Given the description of an element on the screen output the (x, y) to click on. 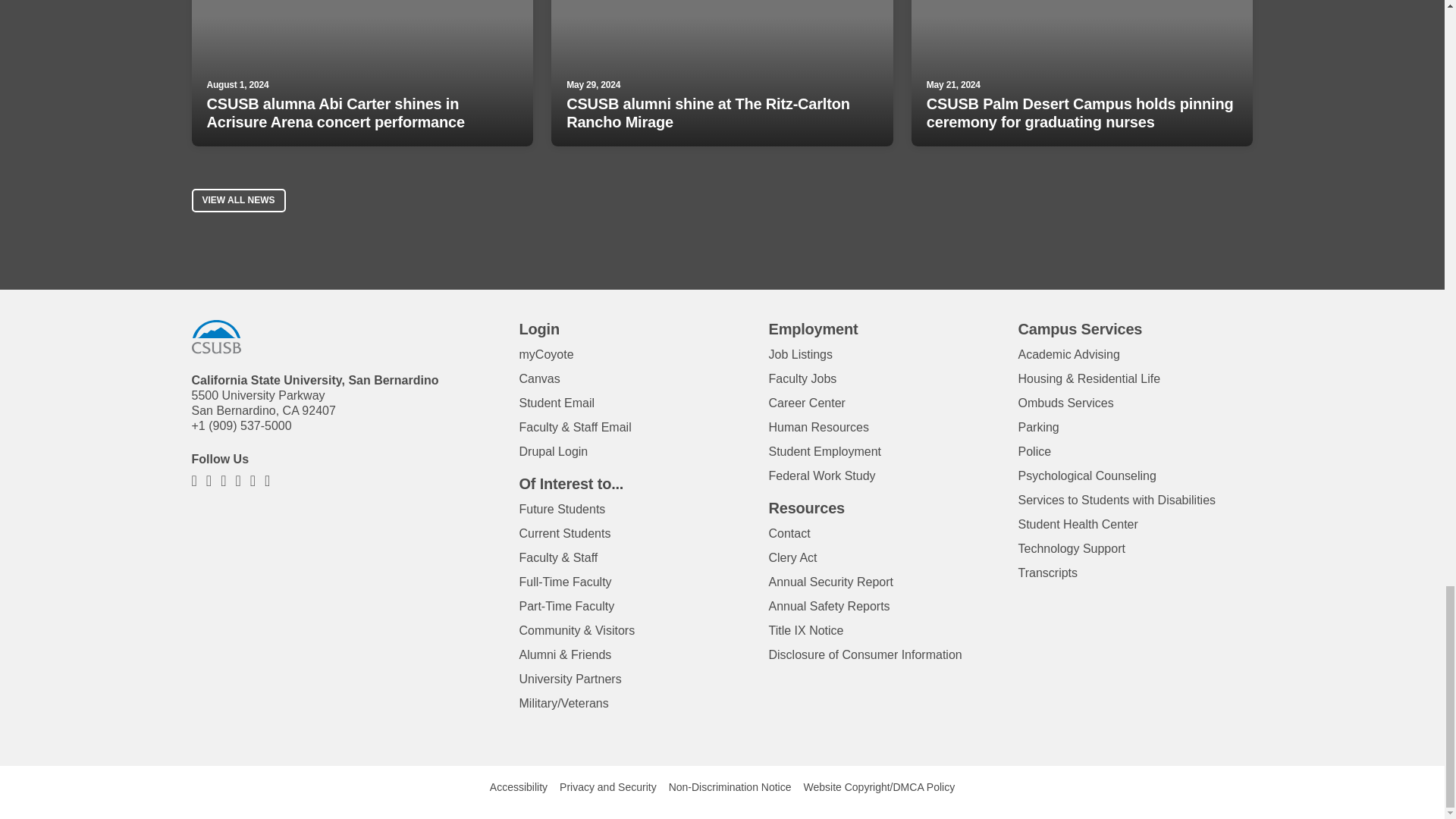
CSUSB (215, 336)
Directs to "Future Students" landing page (561, 508)
Directs to "Current Students" landing page (564, 533)
